Given the description of an element on the screen output the (x, y) to click on. 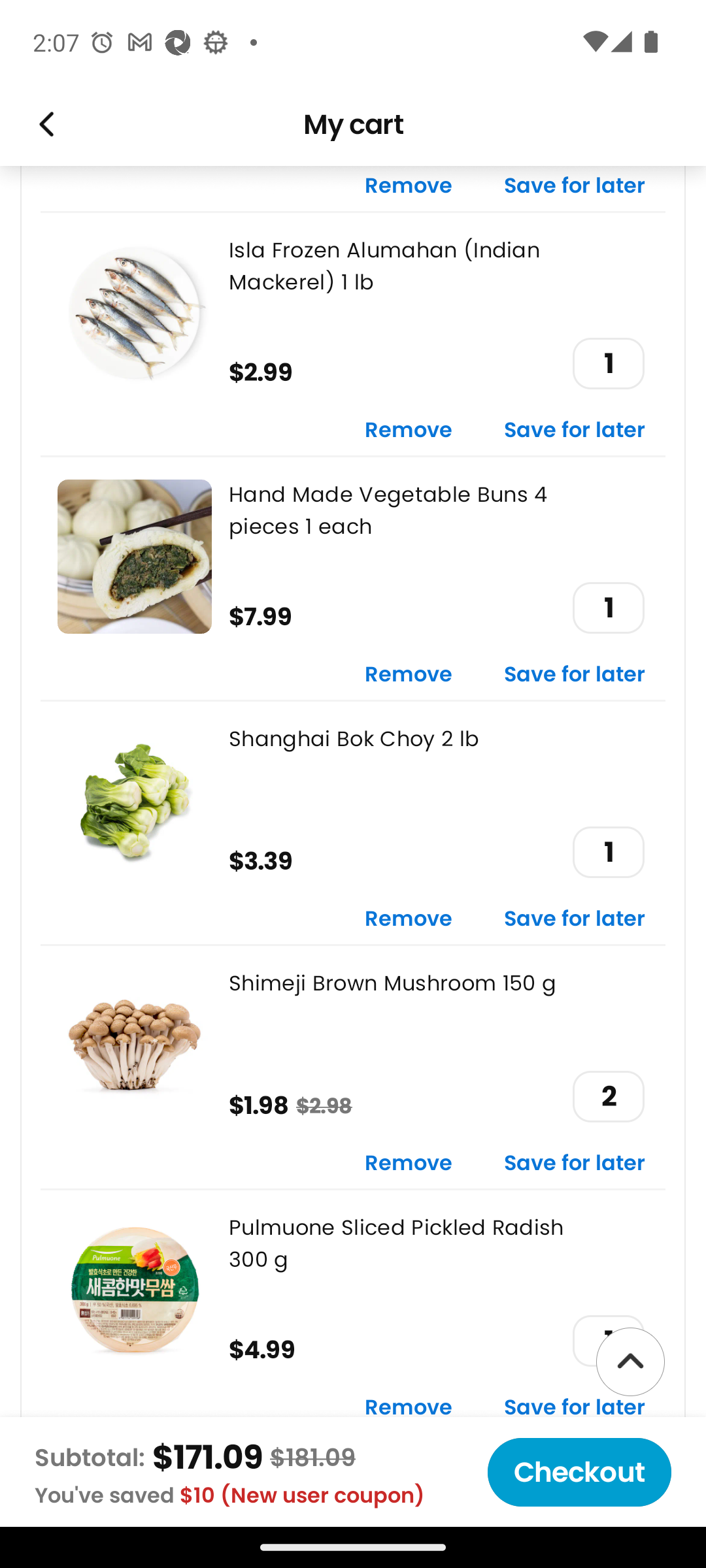
Remove (408, 188)
Save for later (574, 188)
1 (608, 362)
Remove (408, 430)
Save for later (574, 430)
1 (608, 607)
Remove (408, 674)
Save for later (574, 674)
1 (608, 852)
Remove (408, 919)
Save for later (574, 919)
2 (608, 1096)
Remove (408, 1163)
Save for later (574, 1163)
Remove (408, 1407)
Save for later (574, 1407)
Checkout (579, 1471)
